Given the description of an element on the screen output the (x, y) to click on. 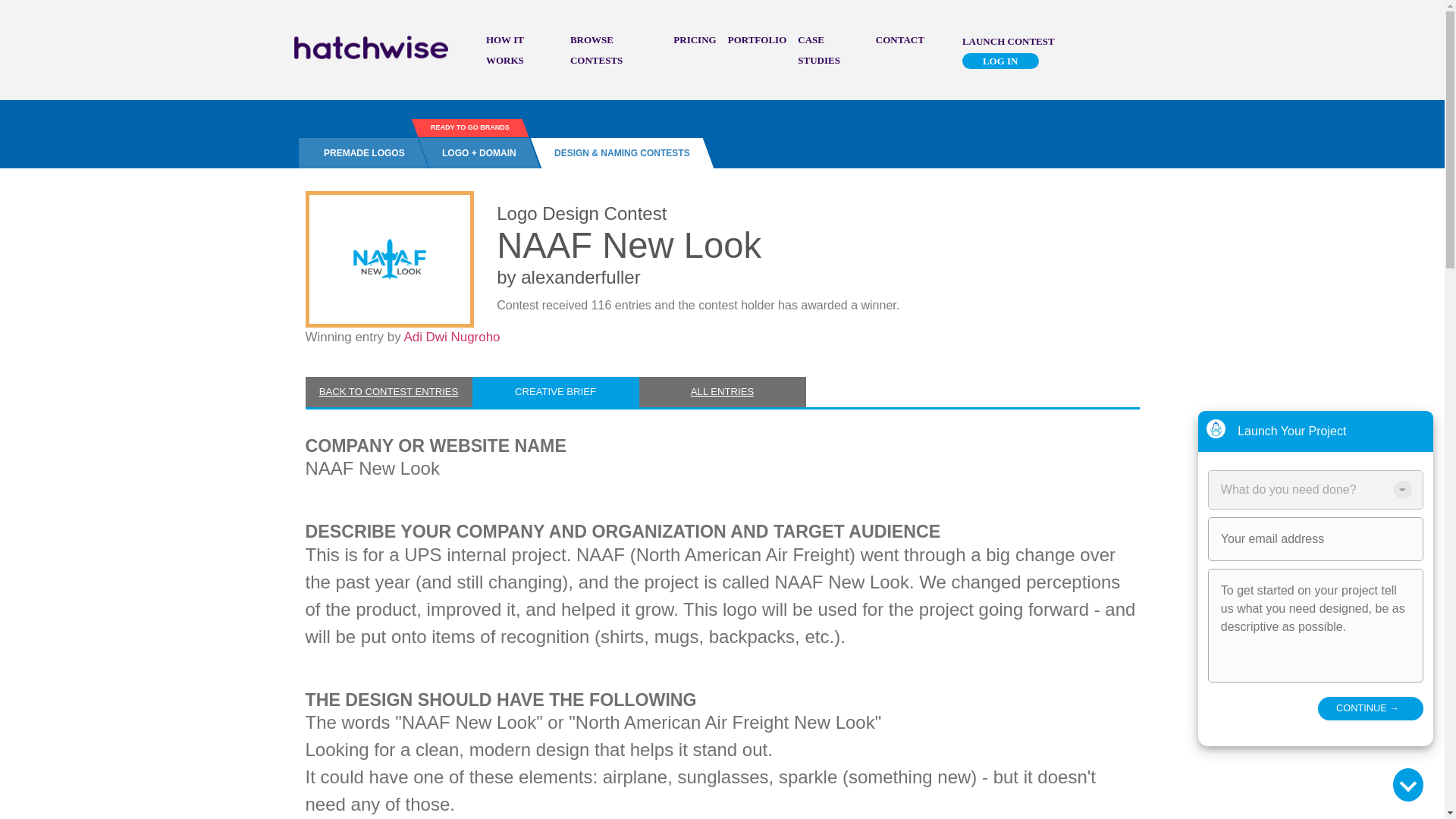
CASE STUDIES (818, 50)
LAUNCH CONTEST (1008, 40)
CONTACT (900, 39)
PRICING (694, 39)
Adi Dwi Nugroho (451, 336)
LOG IN (1000, 60)
PREMADE LOGOS (357, 153)
ALL ENTRIES (722, 391)
BROWSE CONTESTS (596, 50)
HOW IT WORKS (505, 50)
PORTFOLIO (757, 39)
BACK TO CONTEST ENTRIES (387, 391)
